Given the description of an element on the screen output the (x, y) to click on. 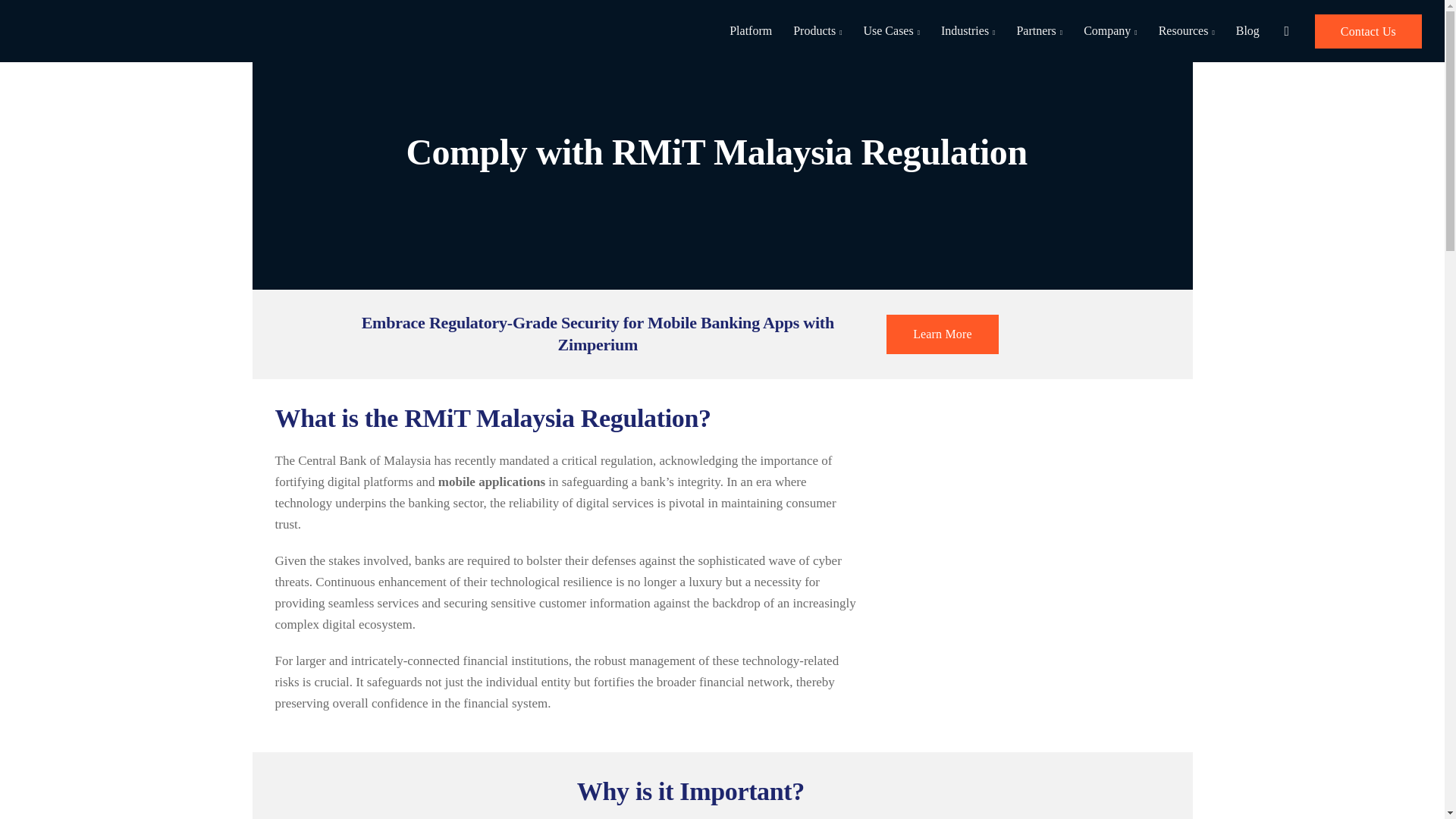
Use Cases (890, 30)
Platform (751, 30)
Products (817, 30)
Industries (968, 30)
